Given the description of an element on the screen output the (x, y) to click on. 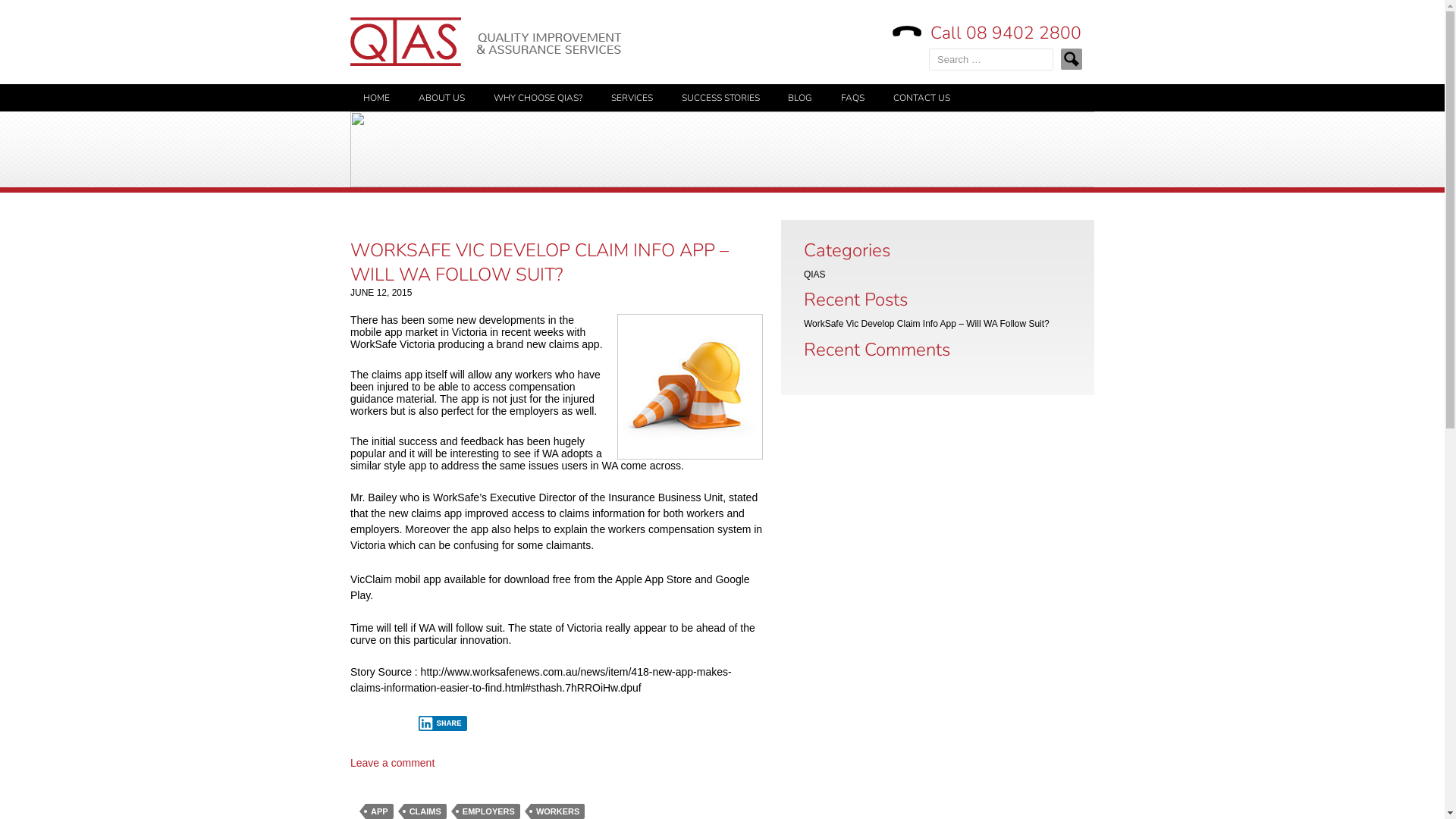
08 9402 2800 Element type: text (1023, 32)
HOME Element type: text (376, 97)
JUNE 12, 2015 Element type: text (380, 292)
Search Element type: text (1070, 58)
SERVICES Element type: text (631, 97)
QIAS Element type: text (814, 274)
BLOG Element type: text (800, 97)
SUCCESS STORIES Element type: text (720, 97)
SKIP TO CONTENT Element type: text (401, 90)
WHY CHOOSE QIAS? Element type: text (537, 97)
Search for: Element type: hover (990, 59)
FAQS Element type: text (852, 97)
CONTACT US Element type: text (921, 97)
SHARE Element type: text (442, 723)
Leave a comment Element type: text (392, 762)
ABOUT US Element type: text (441, 97)
